Given the description of an element on the screen output the (x, y) to click on. 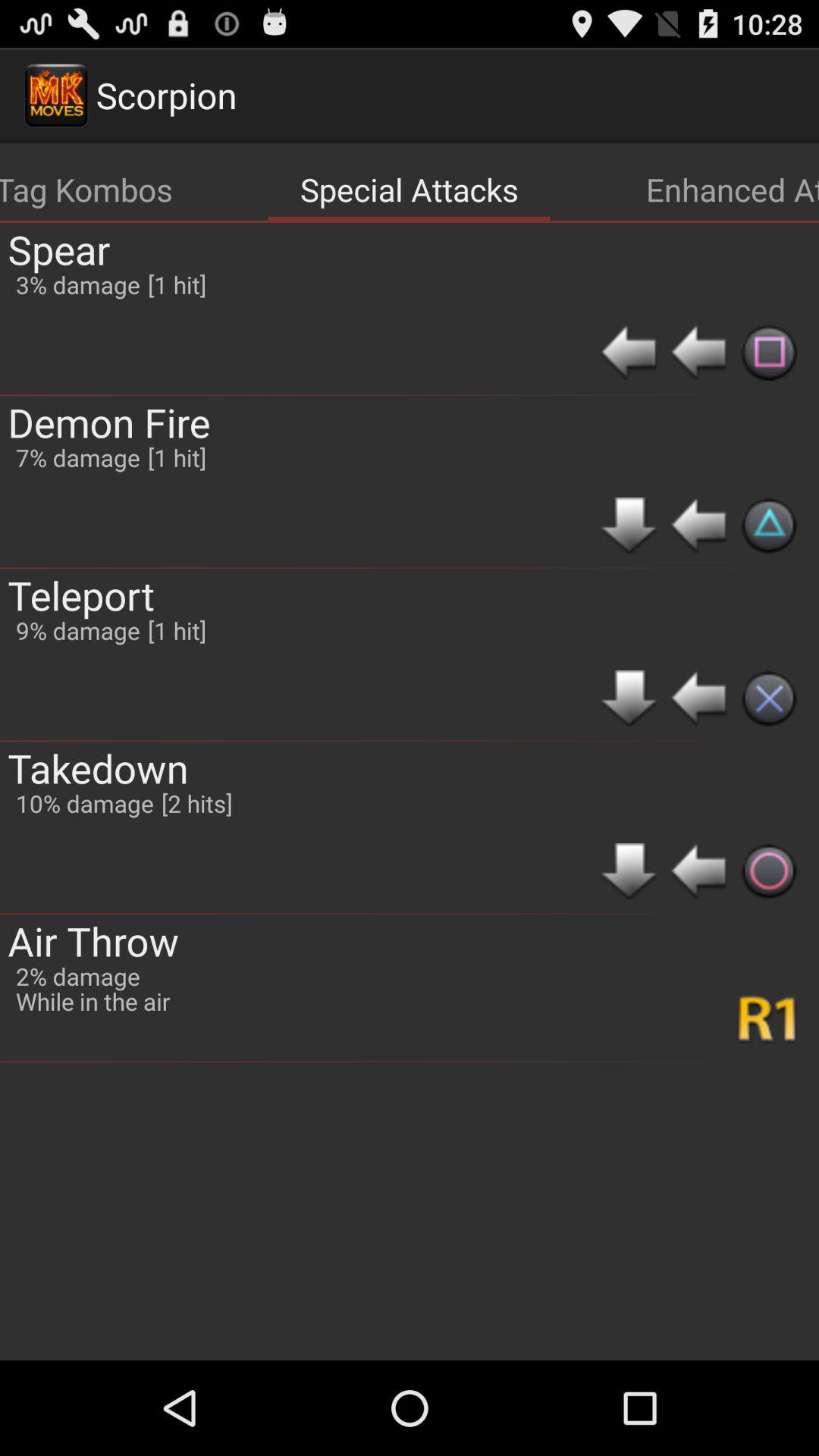
choose the takedown icon (97, 767)
